Given the description of an element on the screen output the (x, y) to click on. 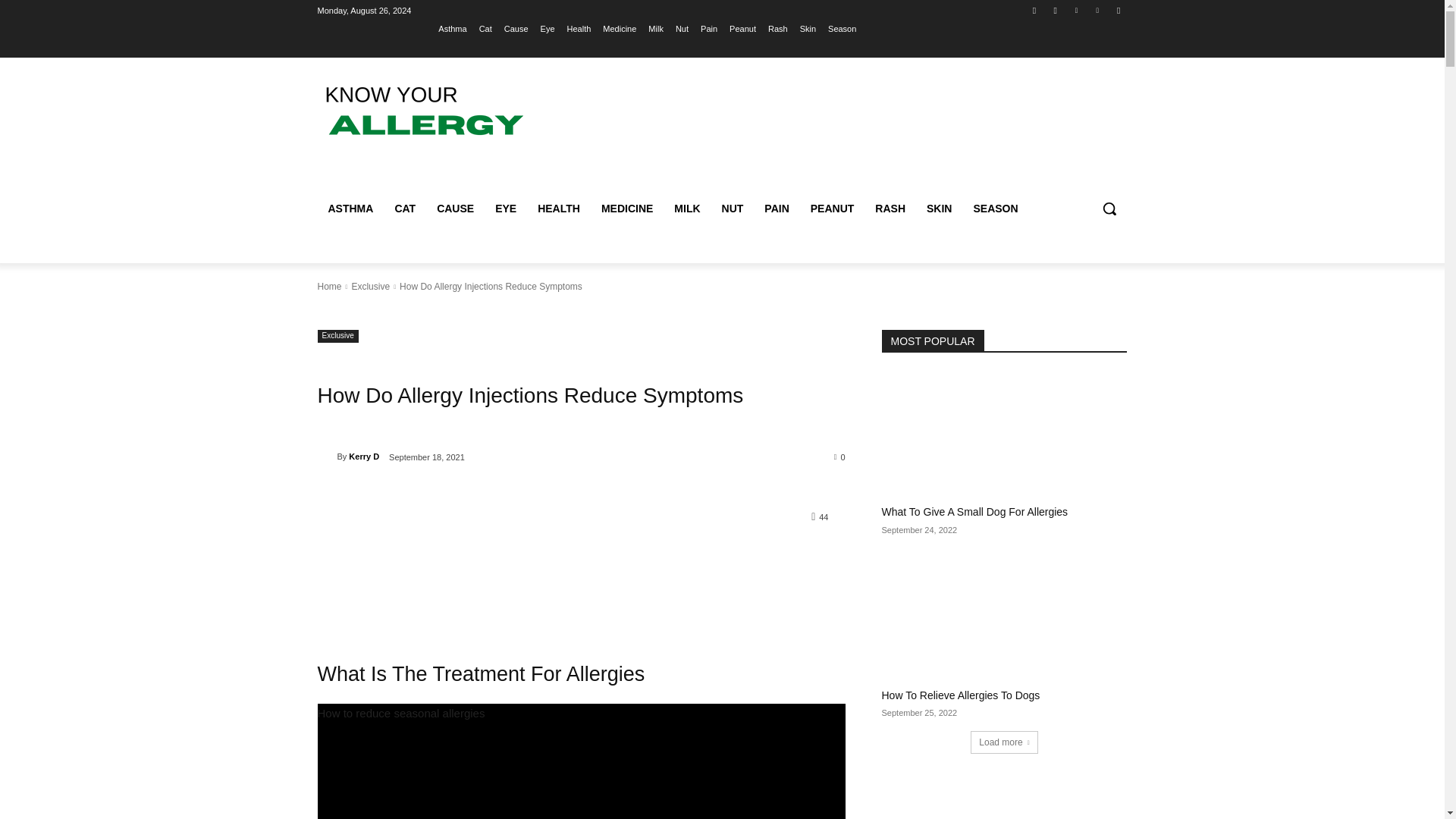
Cause (515, 28)
Instagram (1055, 9)
Vimeo (1097, 9)
Medicine (619, 28)
View all posts in Exclusive (370, 286)
Peanut (742, 28)
Facebook (1034, 9)
Health (579, 28)
Twitter (1075, 9)
Youtube (1117, 9)
